Given the description of an element on the screen output the (x, y) to click on. 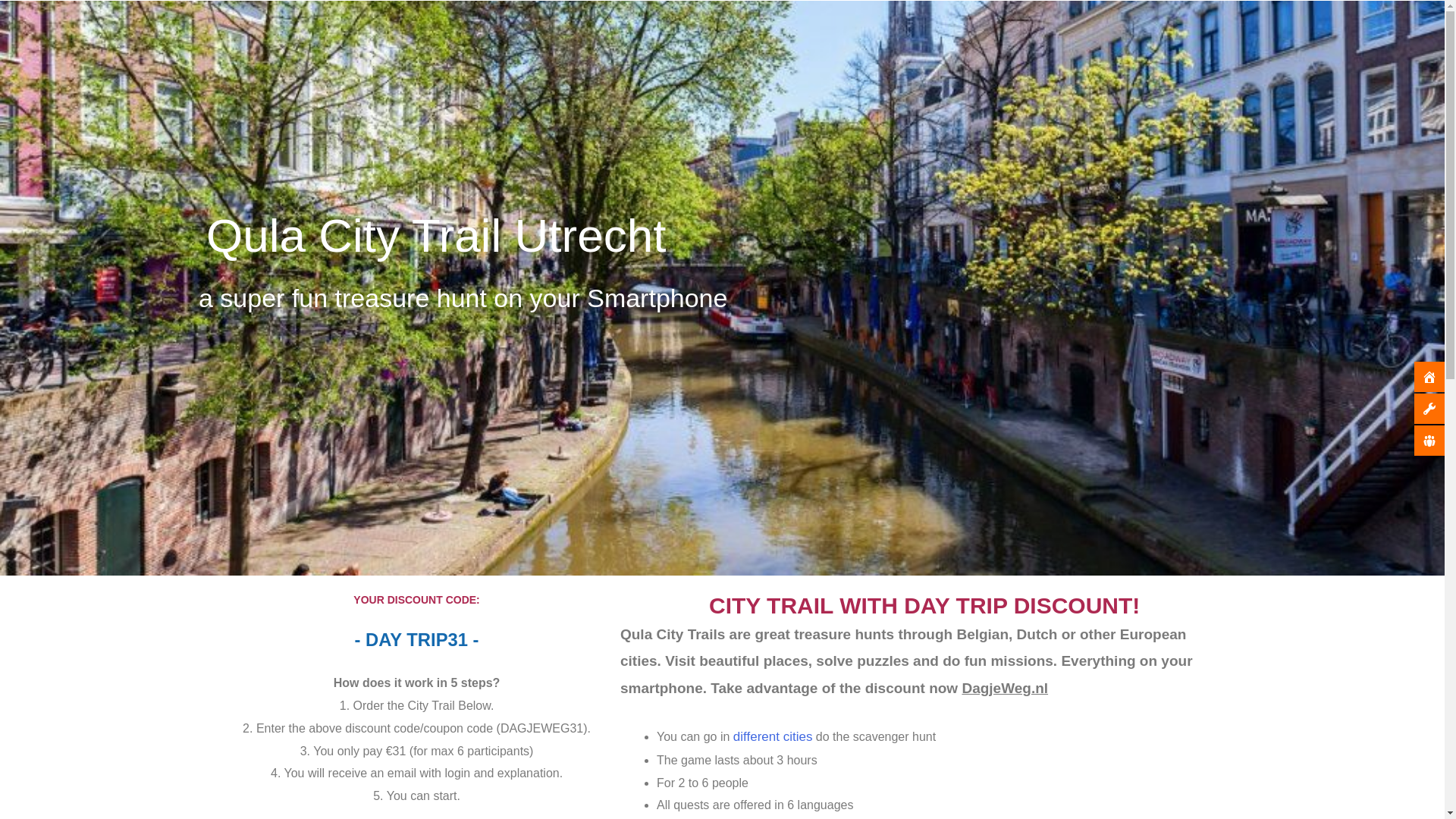
different cities (772, 736)
